Given the description of an element on the screen output the (x, y) to click on. 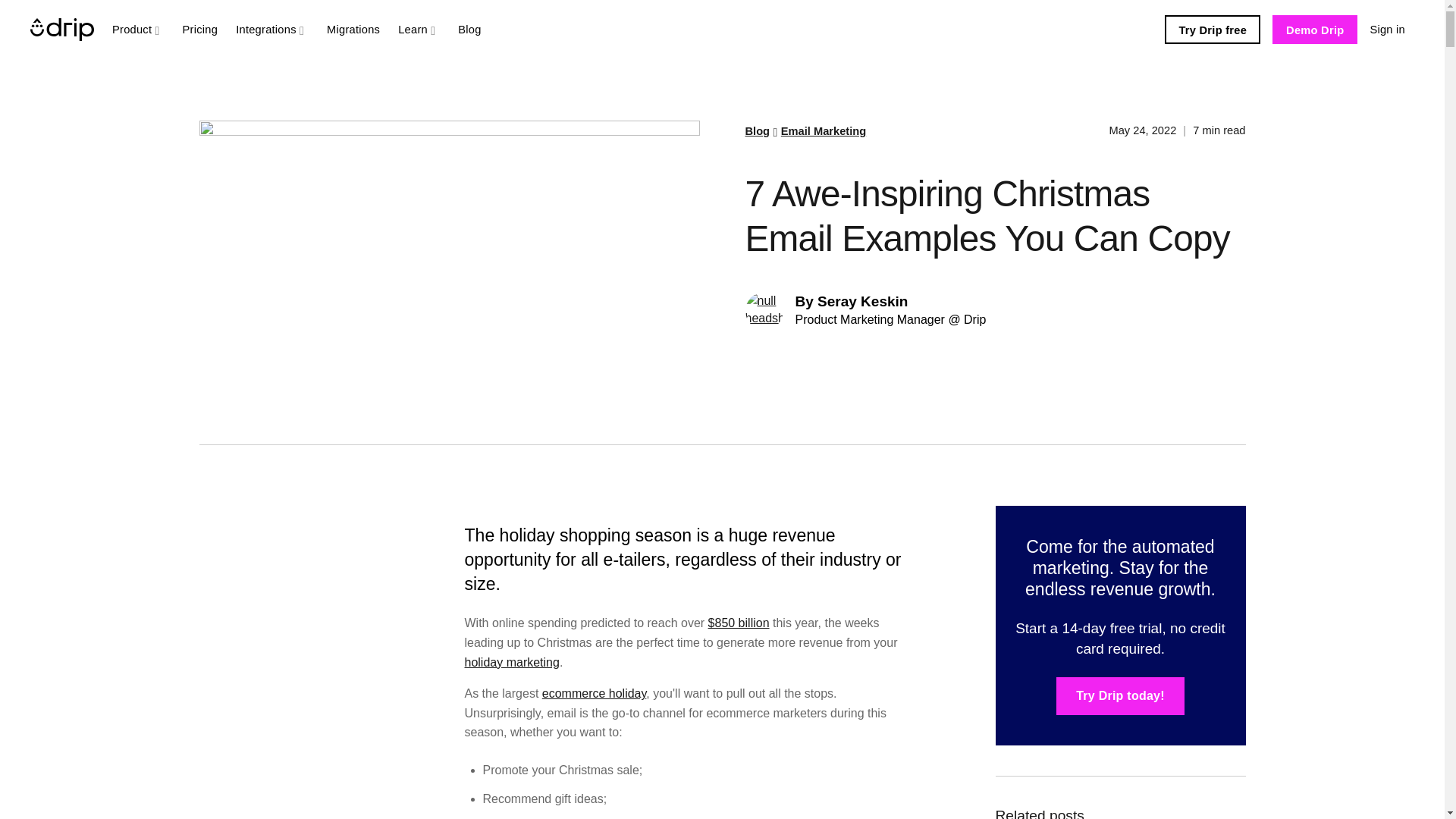
Sign in (1386, 29)
Blog (757, 131)
Pricing (200, 29)
Tuesday, May 24, 2022 at 9:16 AM (1143, 130)
Blog (468, 29)
Migrations (352, 29)
Demo Drip (1314, 29)
Try Drip free (1212, 29)
Email Marketing (823, 131)
Integrations (272, 29)
